Given the description of an element on the screen output the (x, y) to click on. 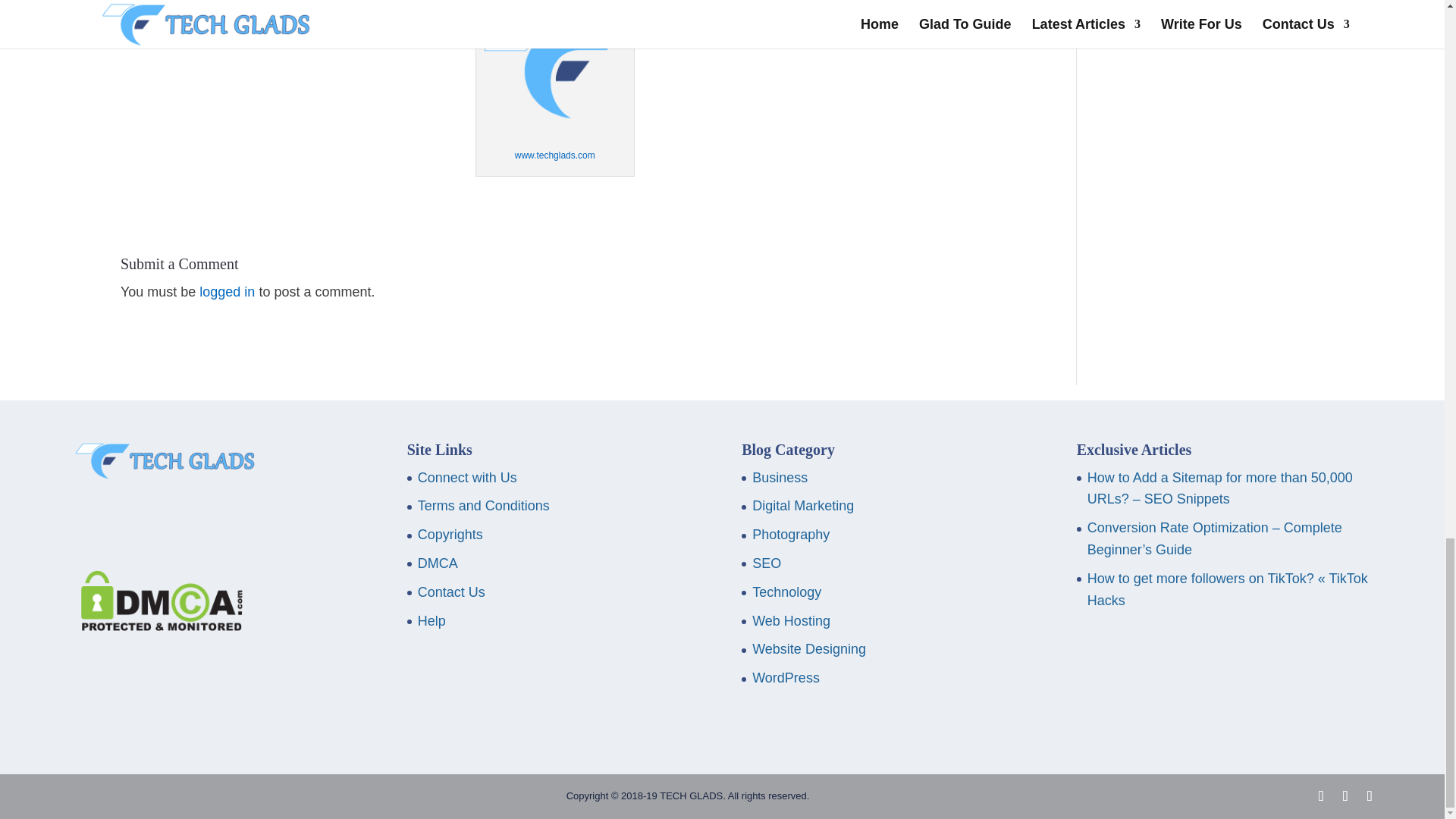
Connect with Us (466, 477)
www.techglads.com (555, 154)
Advertisement (1212, 135)
logged in (226, 291)
DMCA.com Protection Status (157, 626)
